Given the description of an element on the screen output the (x, y) to click on. 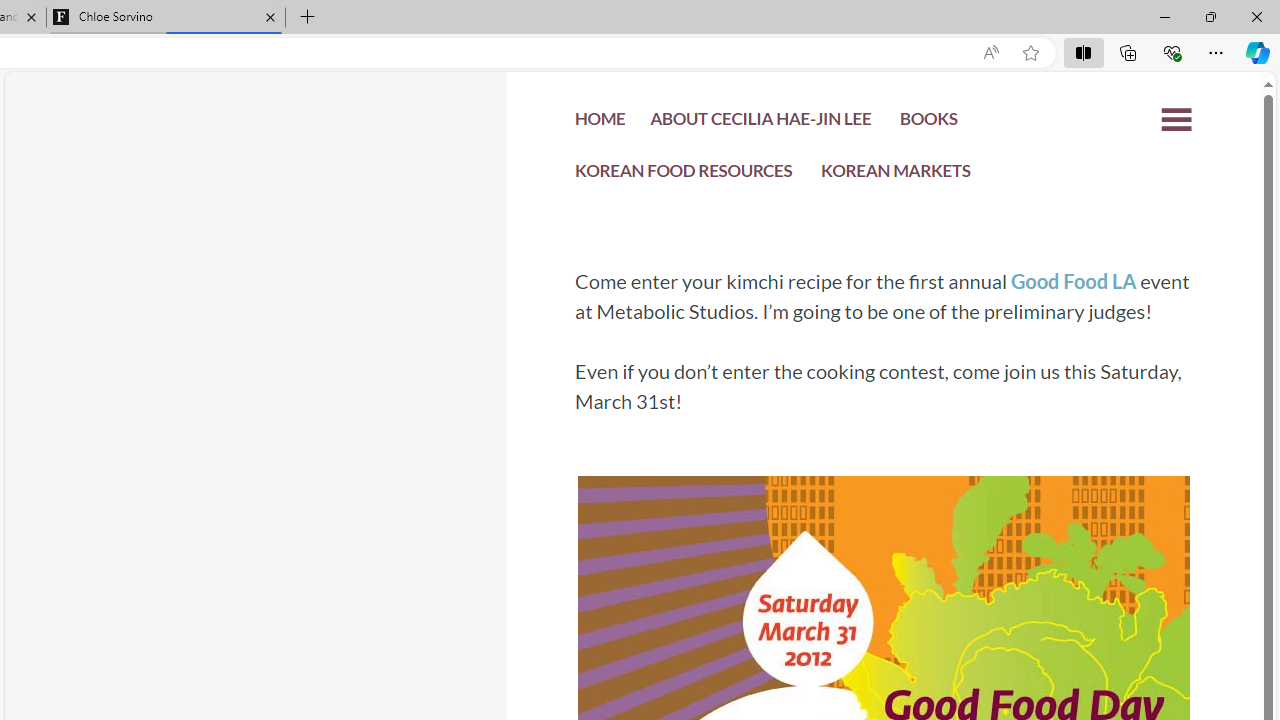
ABOUT CECILIA HAE-JIN LEE (760, 121)
ABOUT CECILIA HAE-JIN LEE (760, 124)
KOREAN MARKETS (895, 175)
KOREAN FOOD RESOURCES (683, 175)
Close (1256, 16)
Split screen (1083, 52)
Restore (1210, 16)
New Tab (308, 17)
Collections (1128, 52)
Read aloud this page (Ctrl+Shift+U) (991, 53)
Add this page to favorites (Ctrl+D) (1030, 53)
BOOKS (928, 121)
Close tab (270, 16)
Minimize (1164, 16)
